Given the description of an element on the screen output the (x, y) to click on. 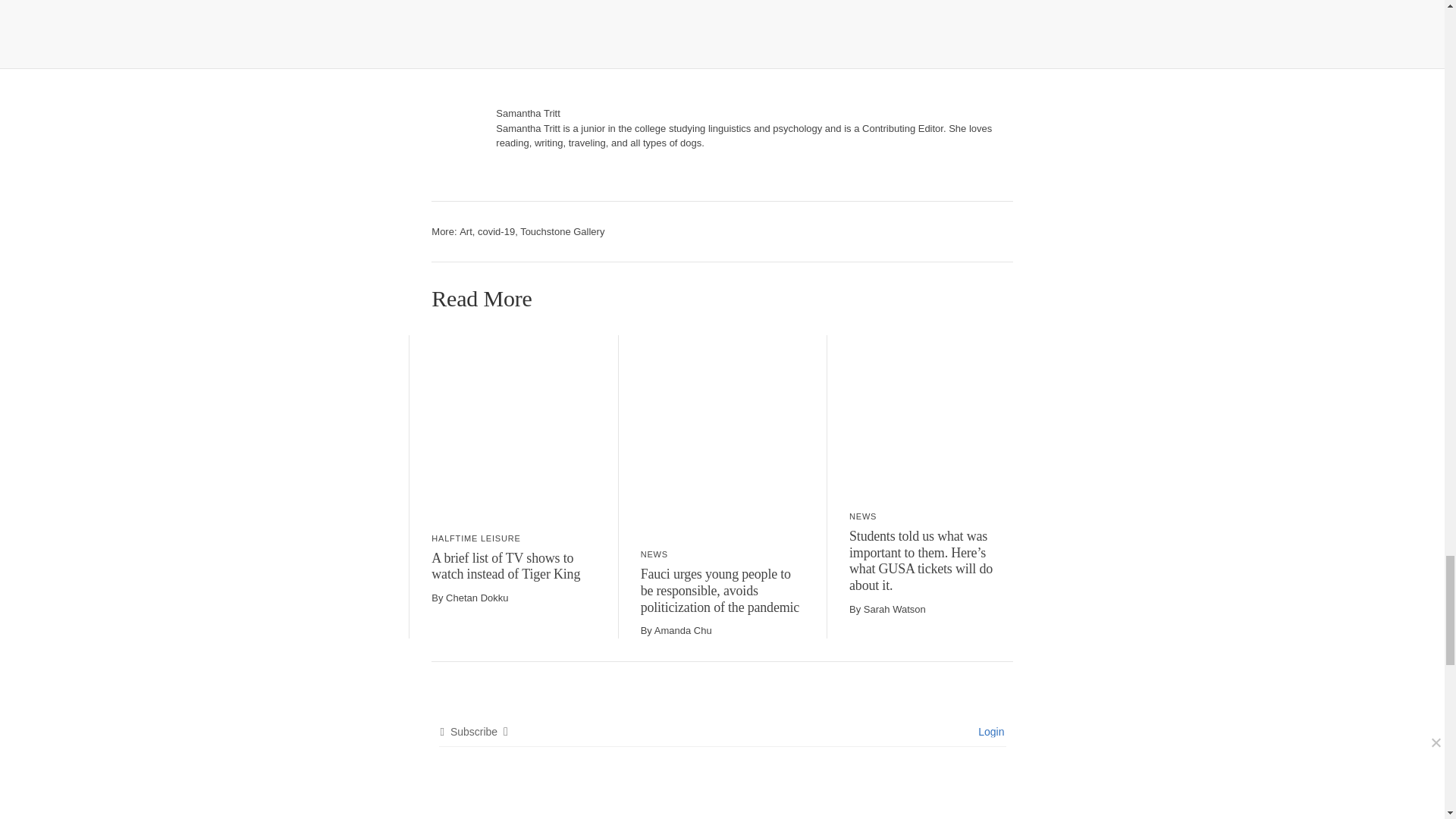
Posts by Chetan Dokku (476, 597)
Posts by Amanda Chu (682, 630)
Posts by Sarah Watson (894, 609)
